Given the description of an element on the screen output the (x, y) to click on. 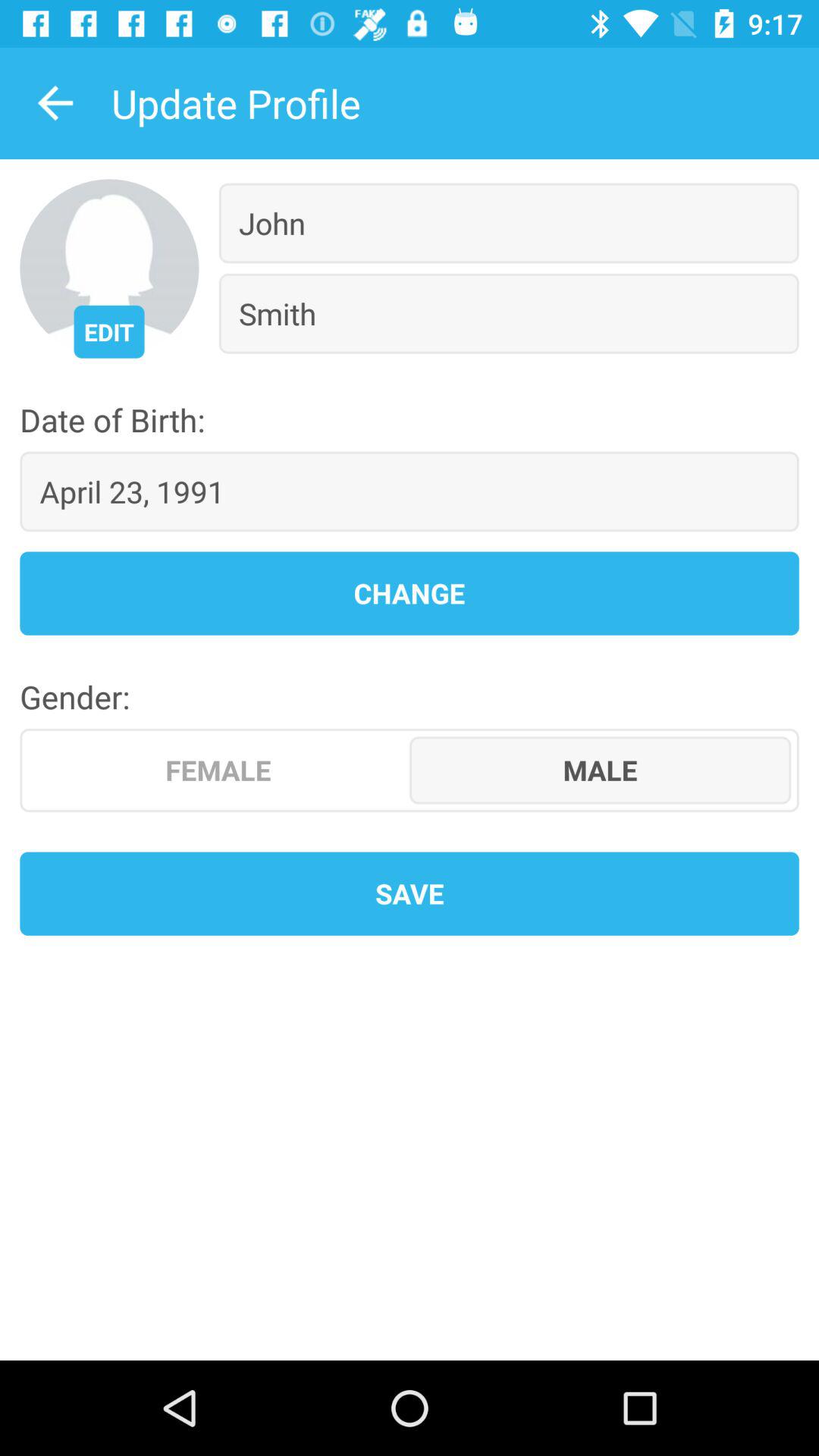
turn on the change icon (409, 593)
